Given the description of an element on the screen output the (x, y) to click on. 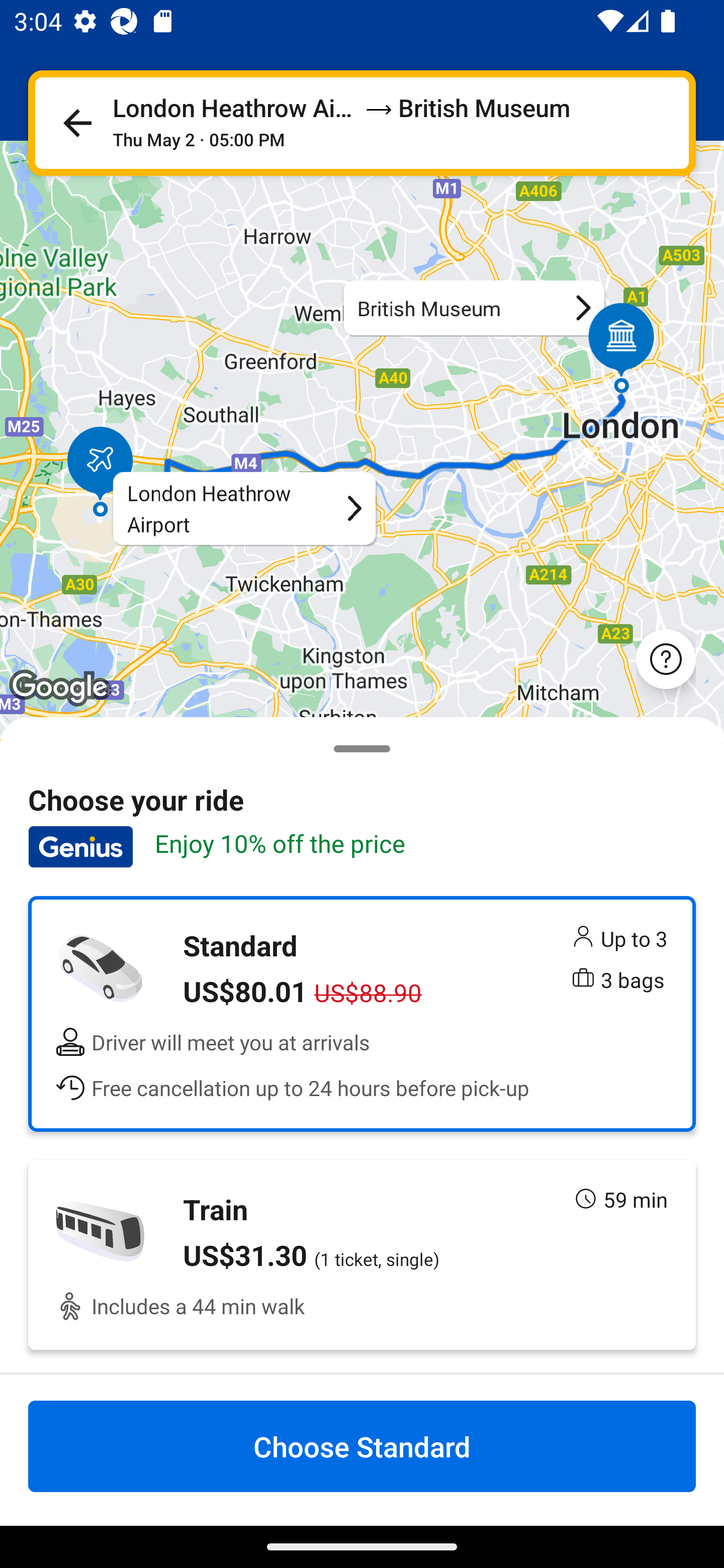
Back (77, 122)
Help center (665, 658)
Choose Standard (361, 1446)
